Given the description of an element on the screen output the (x, y) to click on. 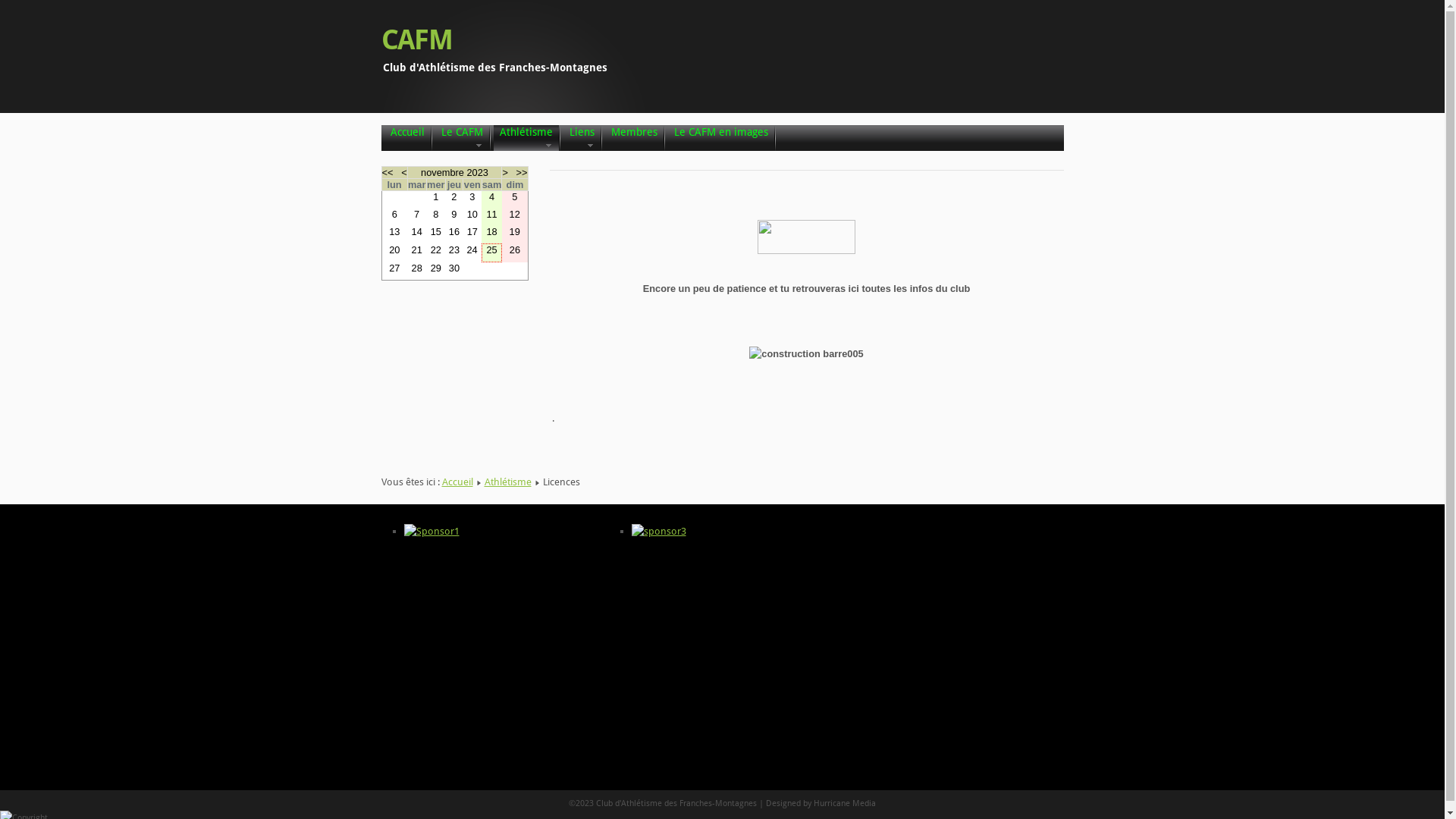
Le CAFM Element type: text (461, 137)
i Element type: text (870, 803)
Membres Element type: text (633, 137)
CAFM Element type: text (416, 40)
Accueil Element type: text (405, 137)
Designed by Hurricane Med Element type: text (817, 803)
Accueil Element type: text (456, 481)
a Element type: text (873, 803)
Le CAFM en images Element type: text (719, 137)
